Given the description of an element on the screen output the (x, y) to click on. 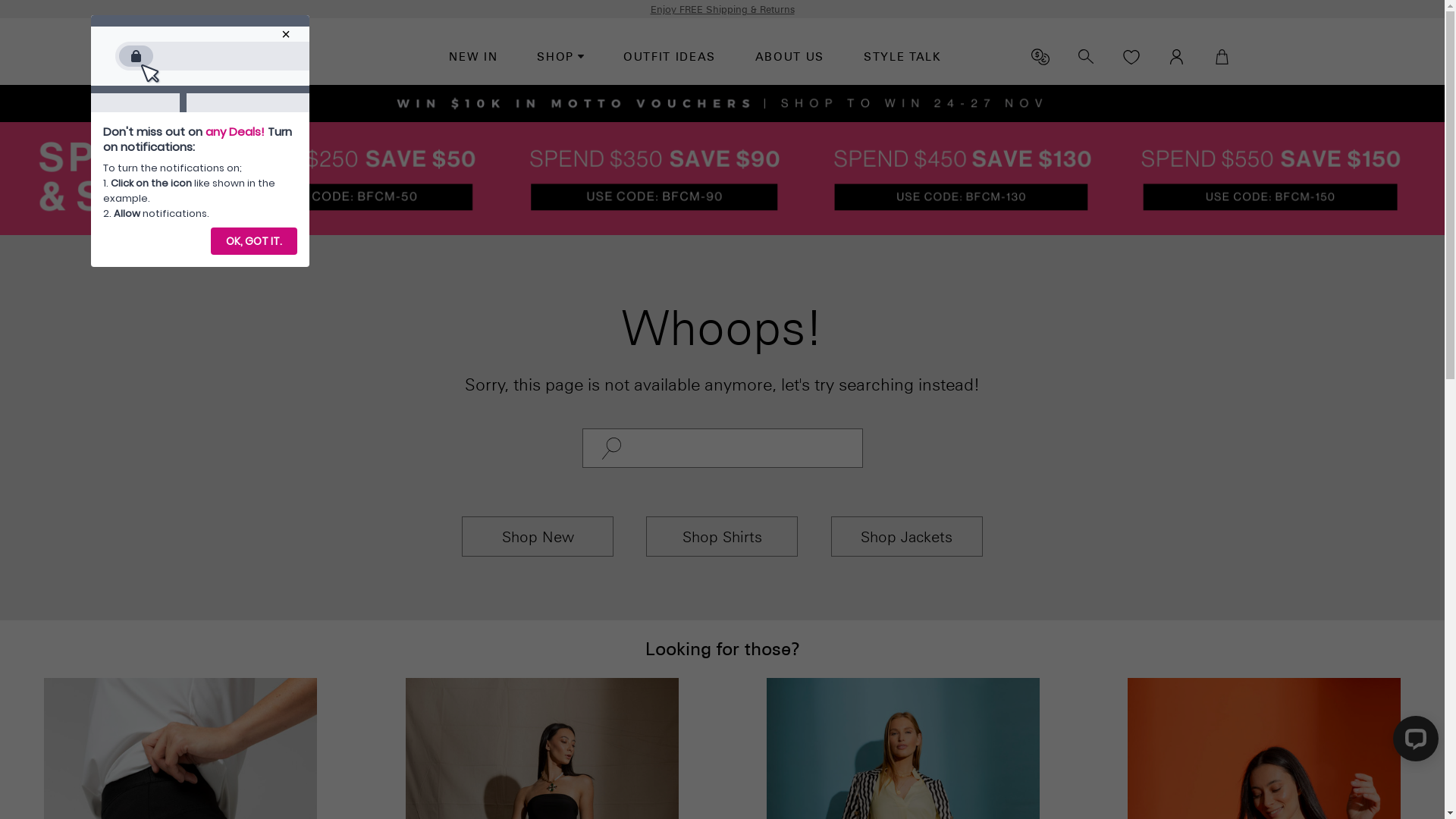
NEW IN Element type: text (472, 57)
ABOUT US Element type: text (789, 57)
SHOP Element type: text (560, 57)
STYLE TALK Element type: text (902, 57)
Motto Element type: hover (256, 56)
LiveChat chat widget Element type: hover (1412, 741)
OUTFIT IDEAS Element type: text (669, 57)
Shop Shirts Element type: text (721, 536)
Enjoy FREE Shipping & Returns Element type: text (722, 9)
Shop New Element type: text (537, 536)
Shop Jackets Element type: text (906, 536)
Looking for those? Element type: text (722, 648)
